Given the description of an element on the screen output the (x, y) to click on. 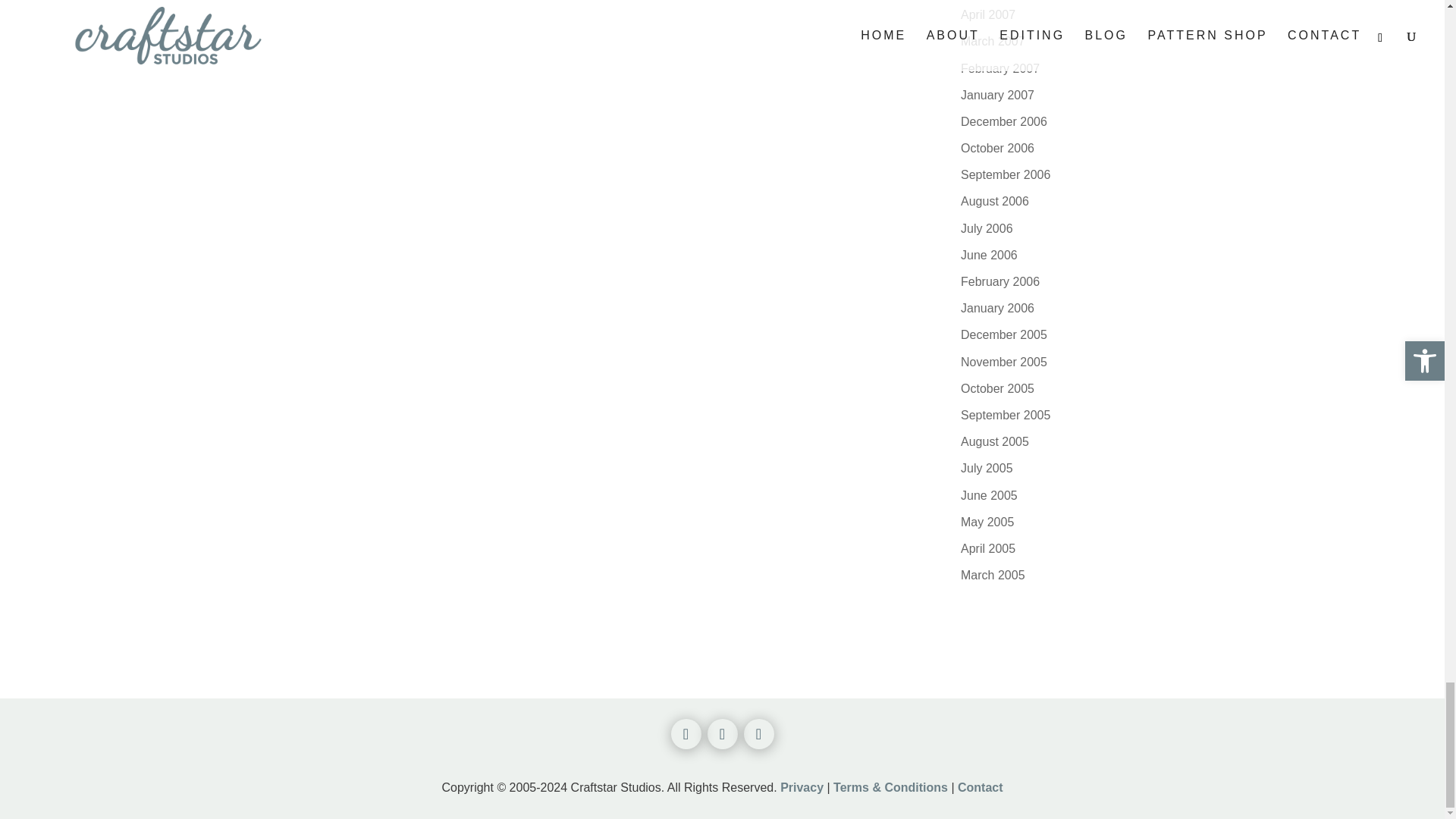
Follow on Instagram (721, 734)
Follow on Pinterest (757, 734)
Follow on Facebook (684, 734)
